Given the description of an element on the screen output the (x, y) to click on. 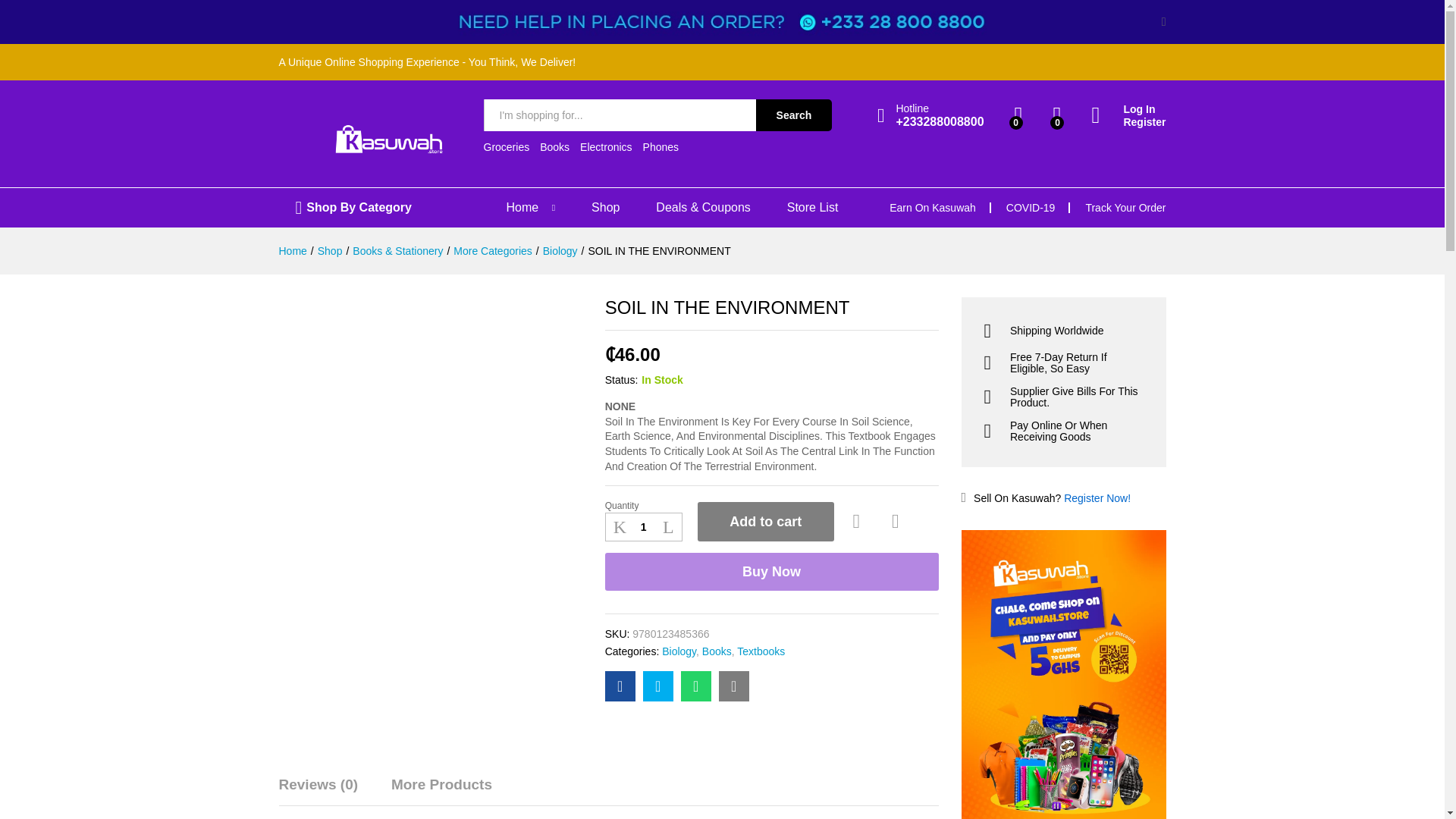
SOIL IN THE ENVIRONMENT (734, 662)
SOIL IN THE ENVIRONMENT (619, 662)
Add to wishlist (857, 498)
1 (643, 502)
Compare (895, 498)
Qty (643, 502)
SOIL IN THE ENVIRONMENT (696, 662)
